Given the description of an element on the screen output the (x, y) to click on. 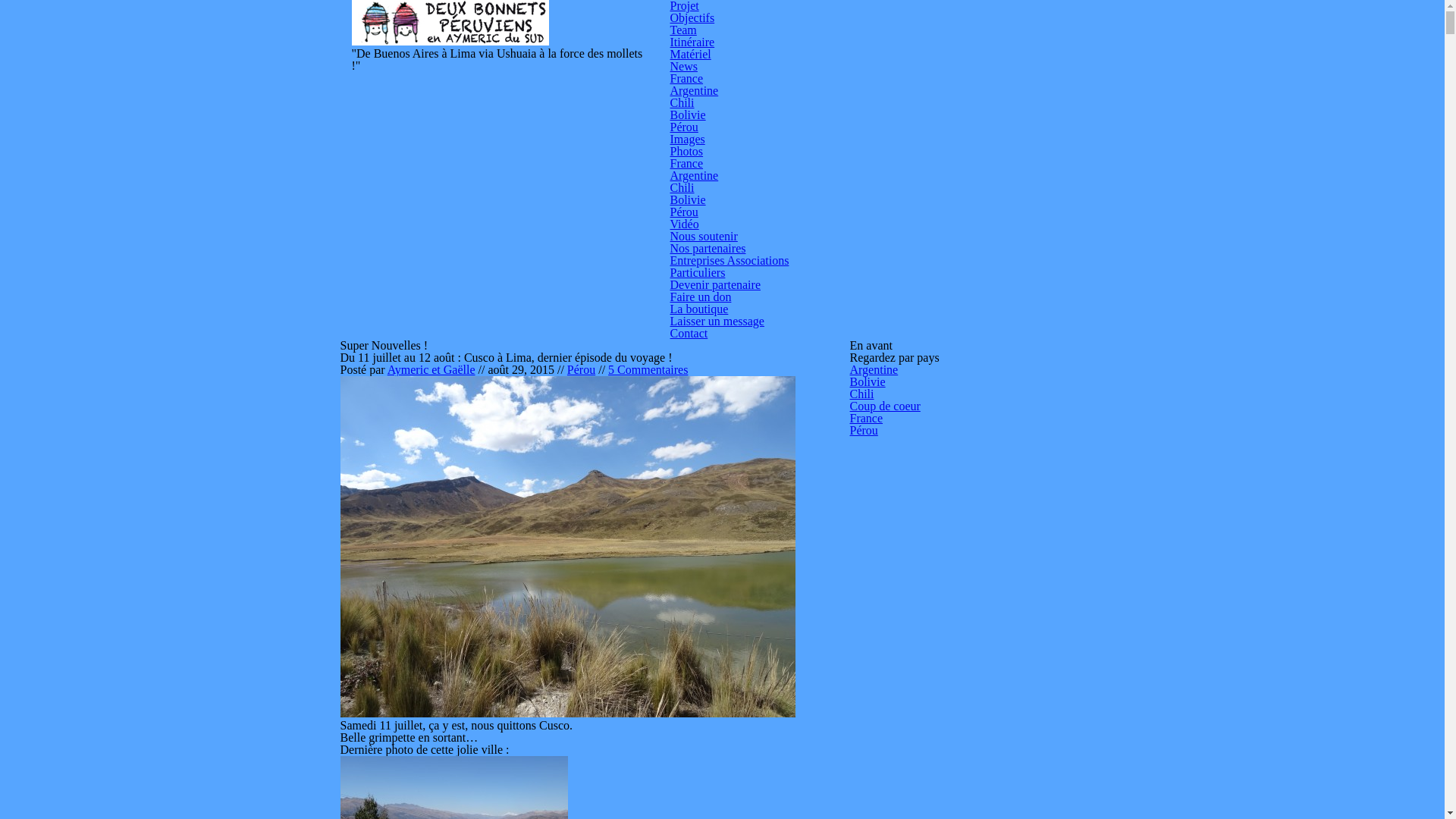
Bolivie Element type: text (688, 199)
Objectifs Element type: text (692, 17)
Chili Element type: text (682, 102)
Contact Element type: text (689, 332)
Photos Element type: text (686, 150)
France Element type: text (865, 417)
Chili Element type: text (682, 187)
La boutique Element type: text (699, 308)
5 Commentaires Element type: text (647, 369)
France Element type: text (686, 78)
Nous soutenir Element type: text (703, 235)
News Element type: text (683, 65)
Coup de coeur Element type: text (884, 405)
Images Element type: text (687, 138)
Bolivie Element type: text (866, 381)
Faire un don Element type: text (700, 296)
France Element type: text (686, 162)
Laisser un message Element type: text (717, 320)
Argentine Element type: text (873, 369)
Nos partenaires Element type: text (708, 247)
Bolivie Element type: text (688, 114)
Particuliers Element type: text (697, 272)
Chili Element type: text (861, 393)
Team Element type: text (683, 29)
Entreprises Associations Element type: text (729, 260)
Argentine Element type: text (694, 175)
Argentine Element type: text (694, 90)
Devenir partenaire Element type: text (715, 284)
